Given the description of an element on the screen output the (x, y) to click on. 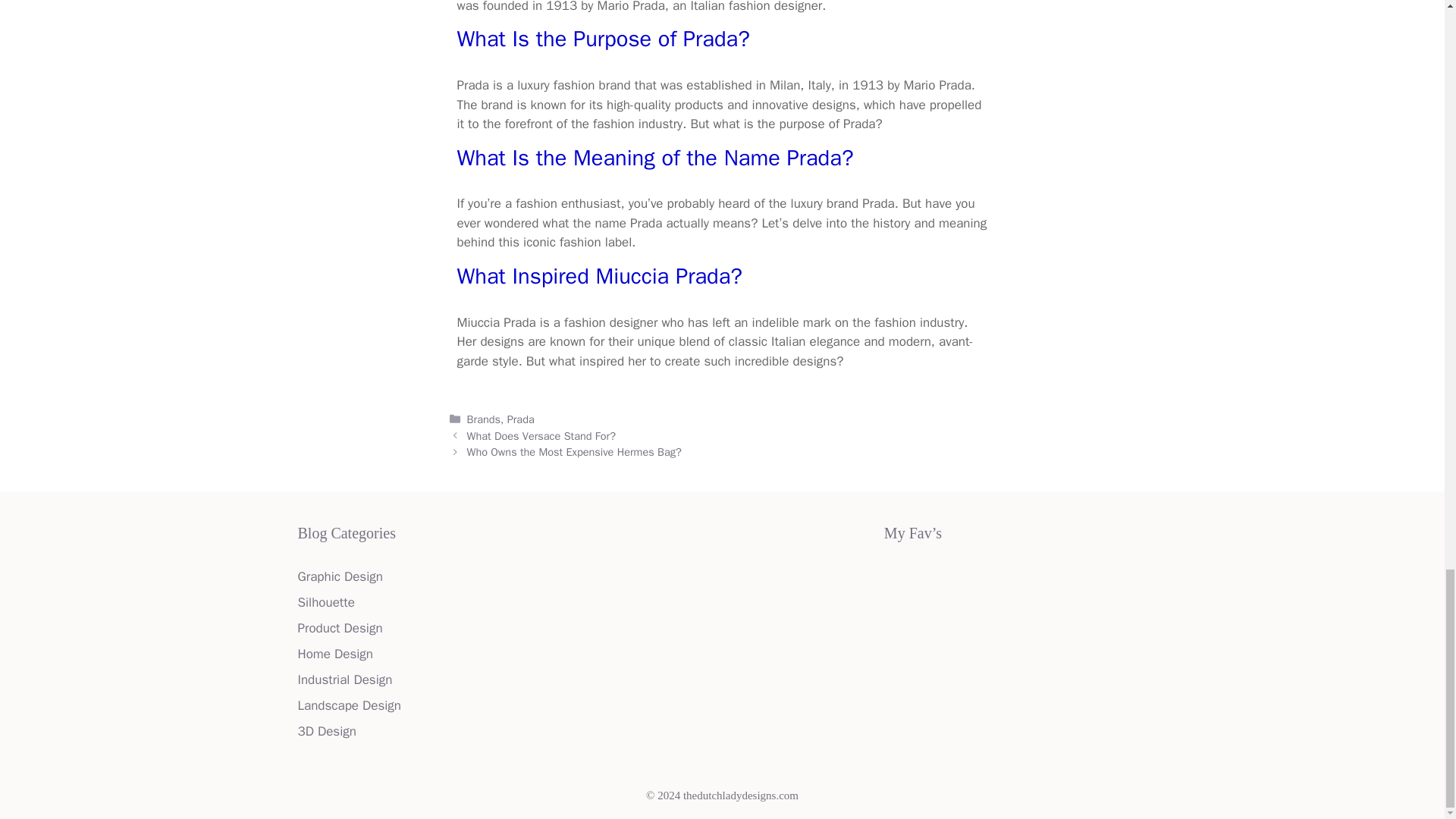
What Inspired Miuccia Prada? (599, 276)
Silhouette (325, 602)
Brands (483, 418)
Graphic Design (339, 576)
What Is the Meaning of the Name Prada? (655, 157)
What Does Versace Stand For? (541, 436)
Prada (520, 418)
Who Owns the Most Expensive Hermes Bag? (574, 451)
What Is the Purpose of Prada? (603, 39)
